Given the description of an element on the screen output the (x, y) to click on. 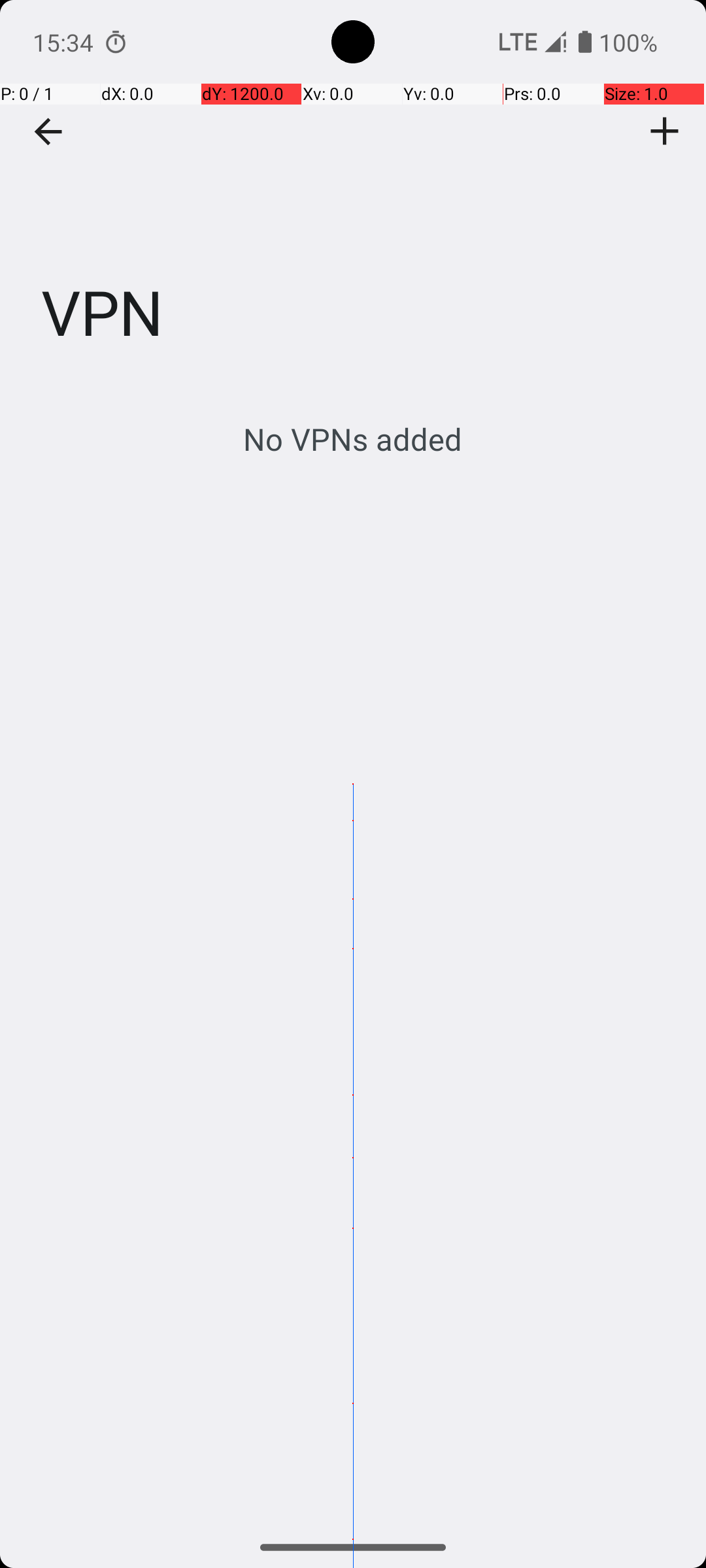
No VPNs added Element type: android.widget.TextView (352, 438)
Add VPN profile Element type: android.widget.TextView (664, 131)
